Given the description of an element on the screen output the (x, y) to click on. 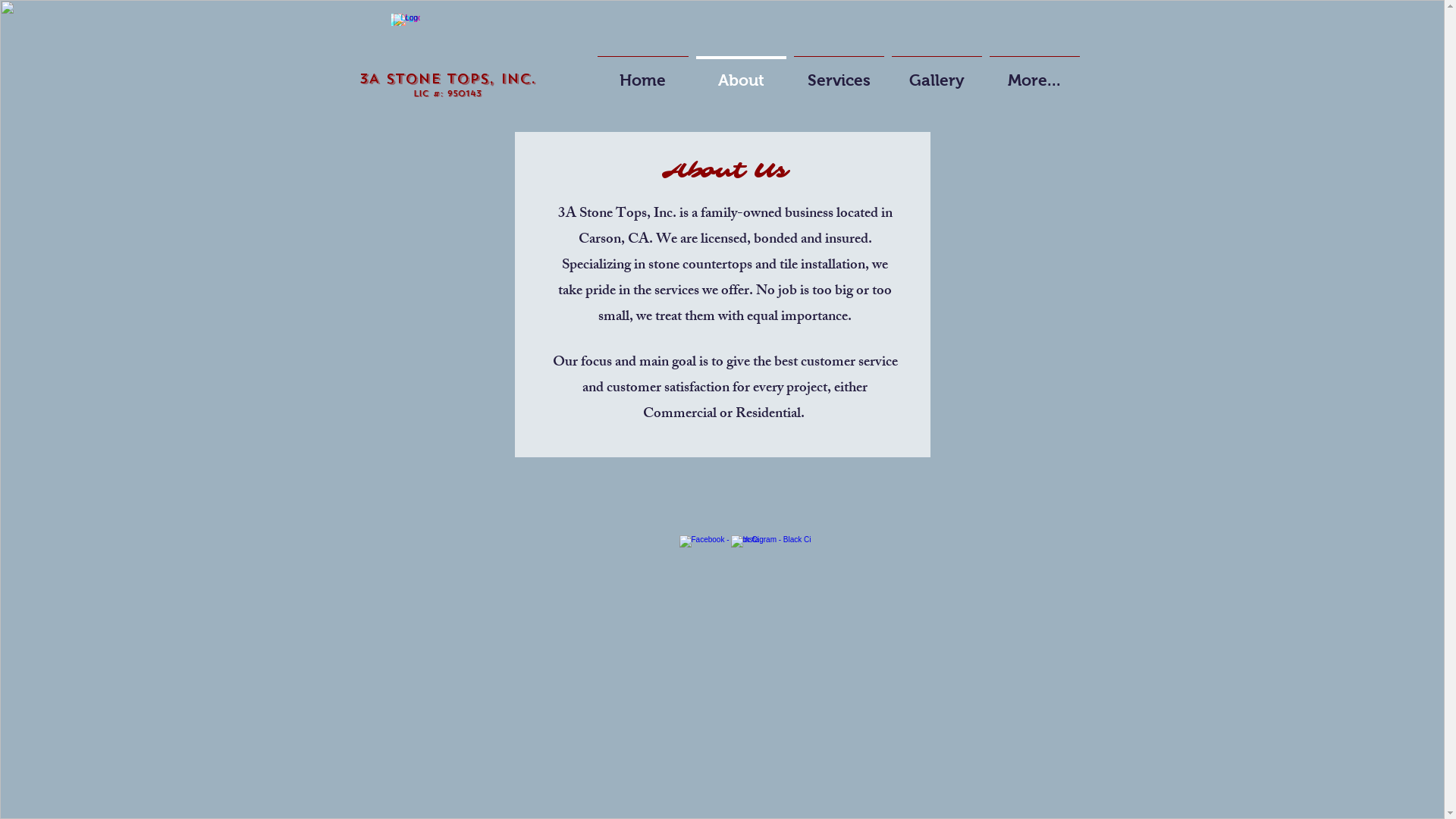
Home Element type: text (642, 73)
About Element type: text (740, 73)
Gallery Element type: text (936, 73)
Services Element type: text (839, 73)
